Given the description of an element on the screen output the (x, y) to click on. 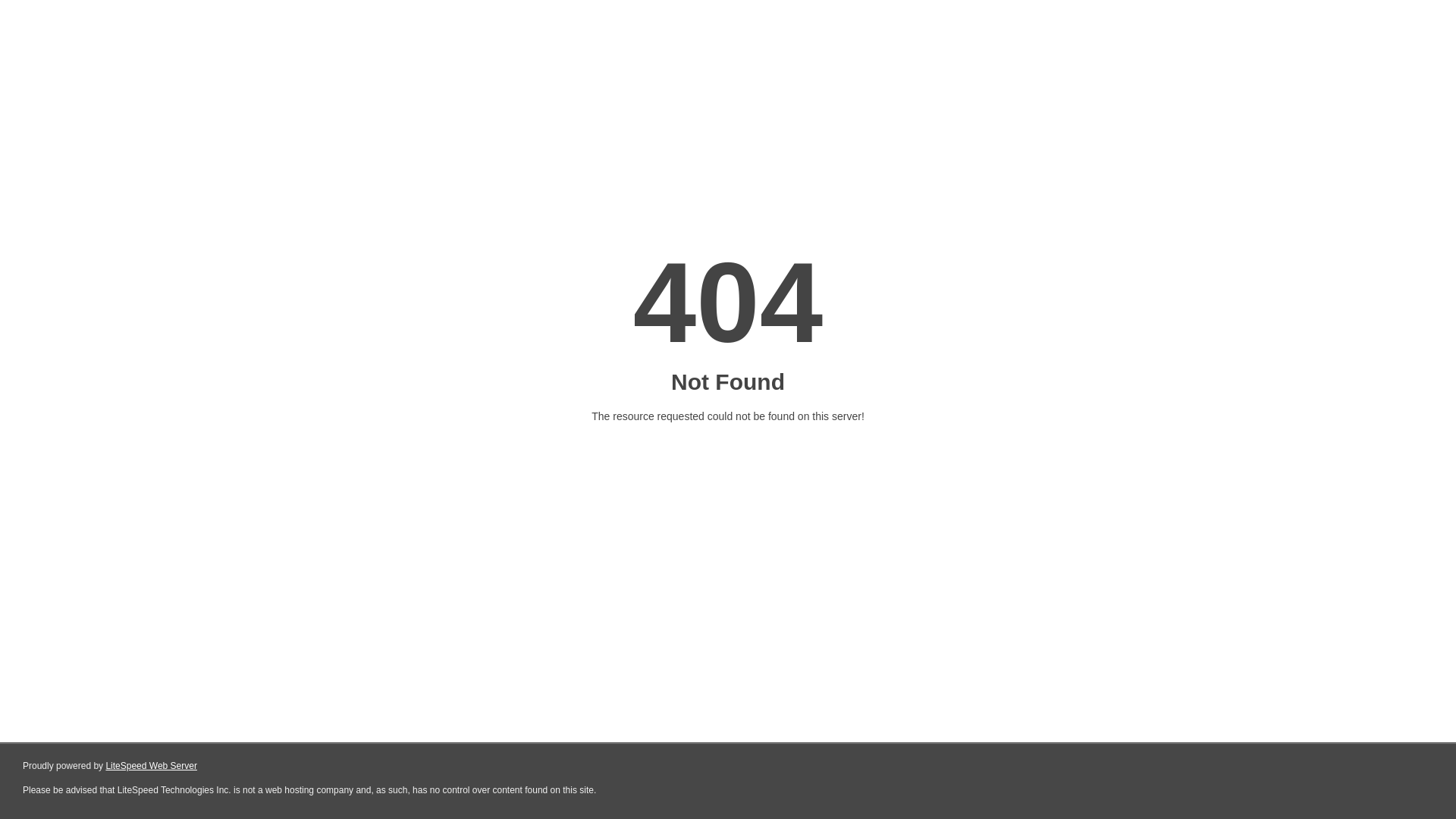
LiteSpeed Web Server Element type: text (151, 765)
